Given the description of an element on the screen output the (x, y) to click on. 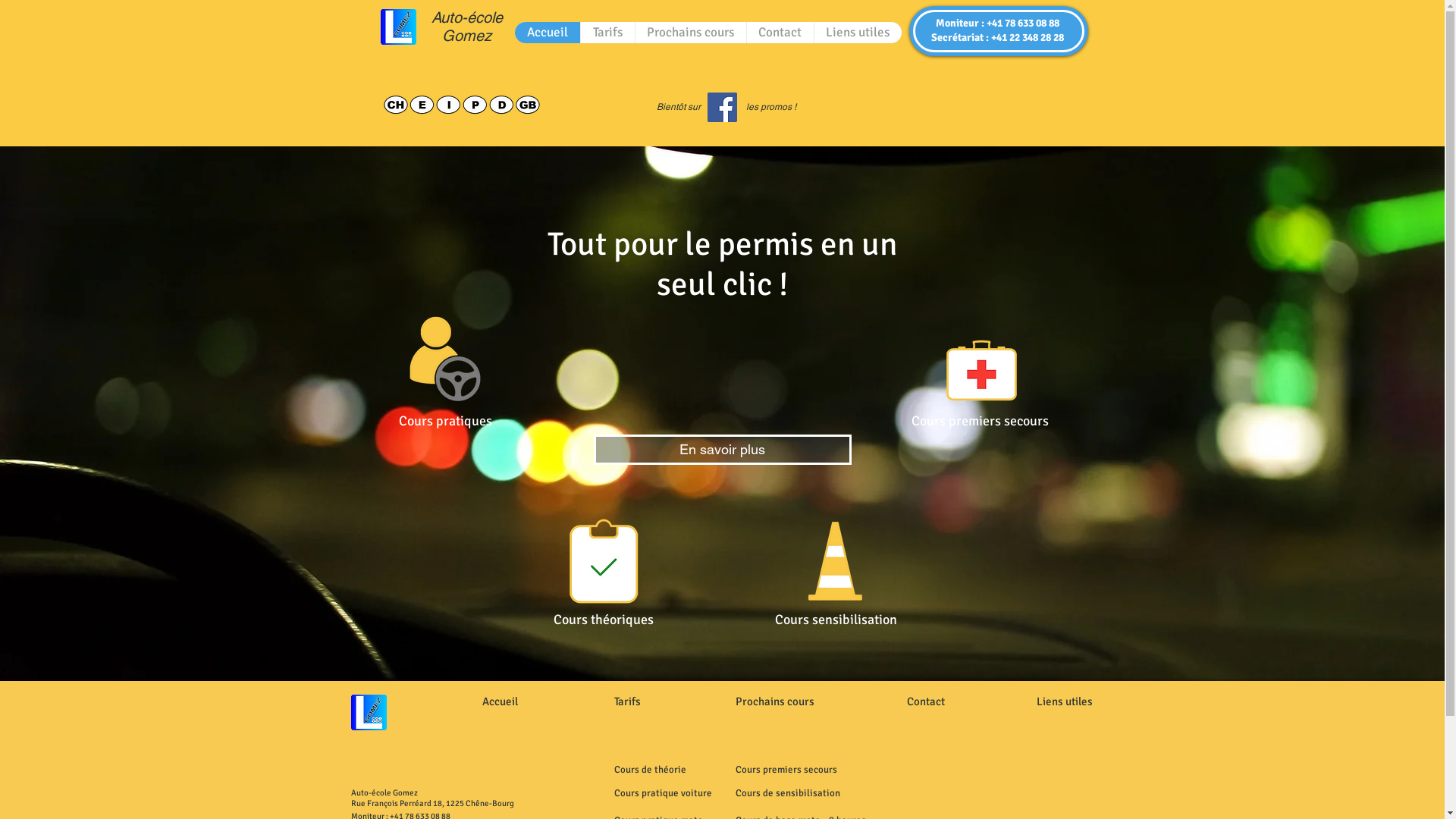
+41 78 633 08 88 Element type: text (1022, 22)
Cours premiers secours Element type: text (786, 769)
+41 22 348 28 28 Element type: text (1026, 37)
Langues Gomez.png Element type: hover (466, 104)
Cours pratique voiture Element type: text (663, 792)
Prochains cours Element type: text (689, 32)
ecours Element type: text (1029, 420)
Tarifs Element type: text (606, 32)
Prochains cours Element type: text (774, 700)
Tarifs Element type: text (627, 700)
Cours premiers s Element type: text (960, 420)
Contact Element type: text (779, 32)
Cours sensibilisation Element type: text (836, 619)
Logo Gomez sec.png Element type: hover (398, 26)
Accueil Element type: text (499, 700)
Accueil Element type: text (546, 32)
Liens utiles Element type: text (856, 32)
Cours de sensibilisation Element type: text (787, 792)
Logo Gomez sec.png Element type: hover (367, 712)
En savoir plus Element type: text (721, 449)
Cours pratiques Element type: text (445, 420)
Contact Element type: text (925, 700)
Liens utiles Element type: text (1063, 700)
